Given the description of an element on the screen output the (x, y) to click on. 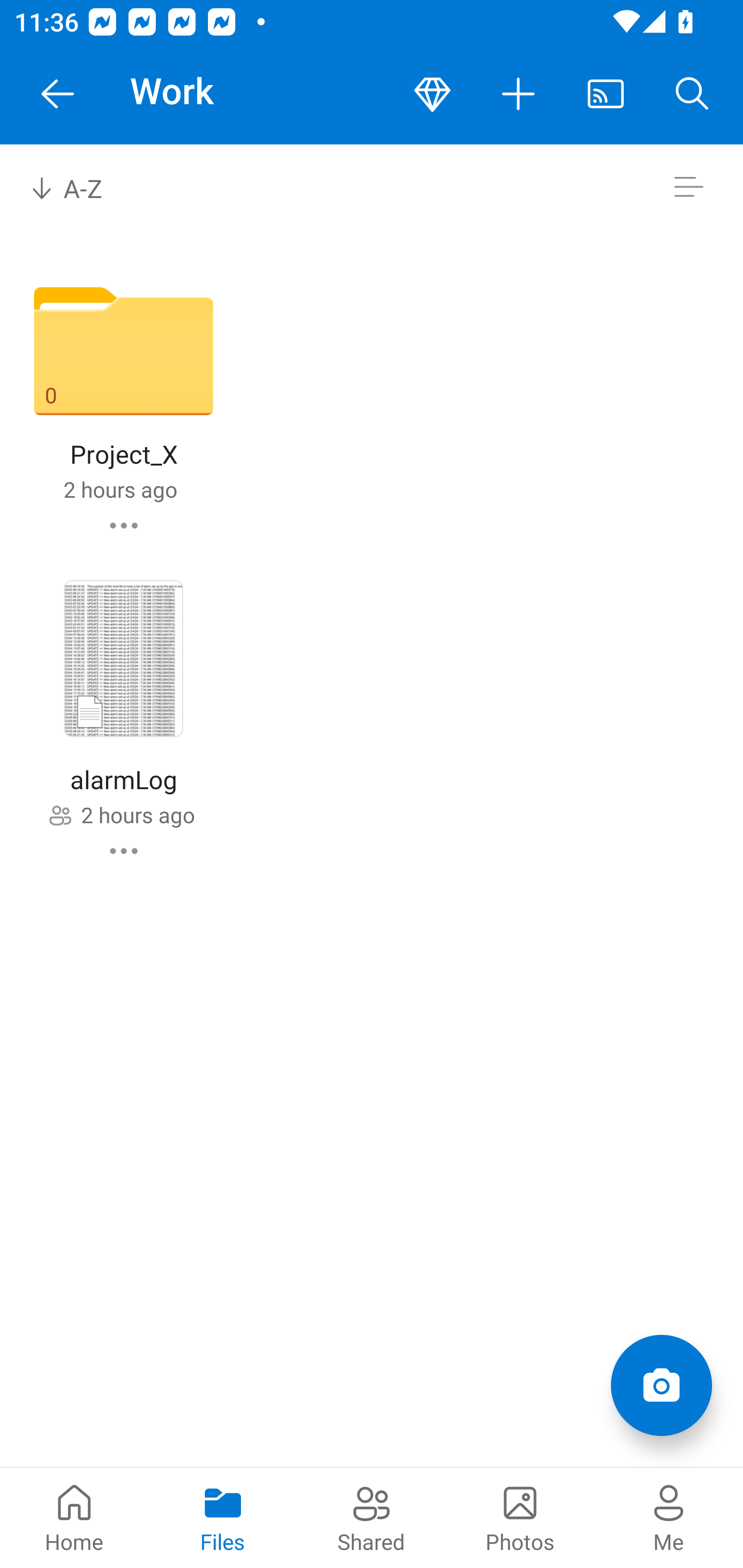
Navigate Up (57, 93)
Cast. Disconnected (605, 93)
Premium button (432, 93)
More actions button (518, 93)
Search button (692, 93)
A-Z Sort by combo box, sort by name, A to Z (80, 187)
Switch to list view (688, 187)
2 hours ago (119, 489)
Project_X commands (123, 525)
2 hours ago (137, 814)
alarmLog commands (123, 851)
Add items Scan (660, 1385)
Home pivot Home (74, 1517)
Shared pivot Shared (371, 1517)
Photos pivot Photos (519, 1517)
Me pivot Me (668, 1517)
